Given the description of an element on the screen output the (x, y) to click on. 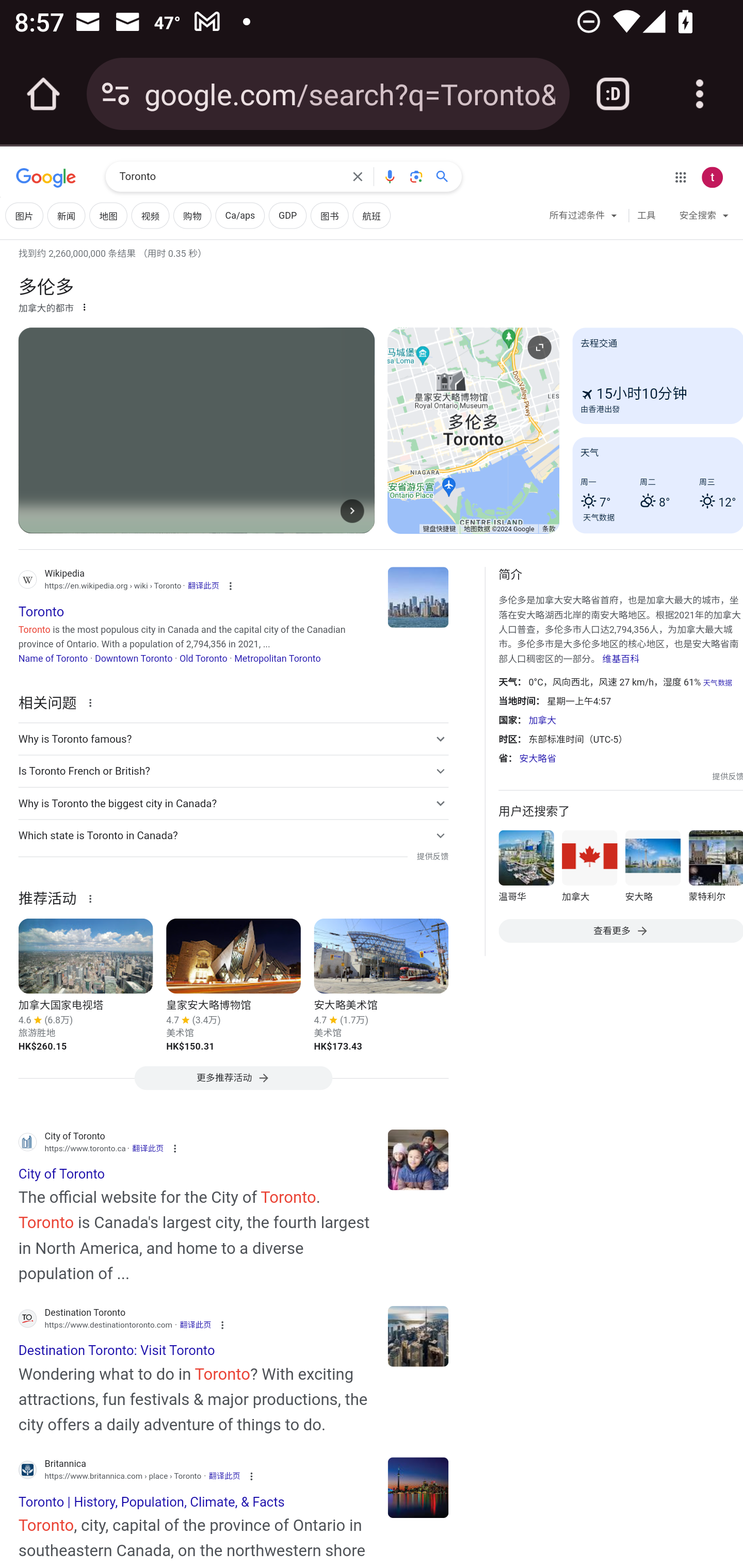
Open the home page (43, 93)
Connection is secure (115, 93)
Switch or close tabs (612, 93)
Customize and control Google Chrome (699, 93)
清除 (357, 176)
按语音搜索 (389, 176)
按图搜索 (415, 176)
搜索 (446, 176)
Google 应用 (680, 176)
Google 账号： test appium (testappium002@gmail.com) (712, 176)
Google (45, 178)
Toronto (229, 177)
图片 (24, 215)
新闻 (65, 215)
地图 (107, 215)
视频 (149, 215)
购物 (191, 215)
添加“Ca/aps” Ca/aps (239, 215)
添加“GDP” GDP (287, 215)
图书 (328, 215)
航班 (371, 215)
所有过滤条件 (583, 217)
工具 (646, 215)
安全搜索 (703, 217)
更多选项 (84, 306)
去程交通 15小时10分钟 乘坐飞机 由香港出發 (657, 375)
展开地图 (539, 346)
天气 周一 高温 7 度 周二 高温 8 度 周三 高温 12 度 (657, 484)
下一张图片 (352, 510)
天气数据 (599, 516)
Toronto (417, 597)
翻译此页 (203, 585)
Name of Toronto (52, 658)
Downtown Toronto (132, 658)
Old Toronto (203, 658)
Metropolitan Toronto (277, 658)
维基百科 (620, 658)
天气数据 (717, 682)
关于这条结果的详细信息 (93, 701)
加拿大 (541, 720)
Why is Toronto famous? (232, 738)
安大略省 (537, 758)
Is Toronto French or British? (232, 770)
提供反馈 (727, 775)
Why is Toronto the biggest city in Canada? (232, 803)
Which state is Toronto in Canada? (232, 835)
温哥华 (526, 869)
加拿大 (588, 869)
安大略 (652, 869)
蒙特利尔 (715, 869)
提供反馈 (432, 856)
关于这条结果的详细信息 (93, 897)
查看更多 查看更多 查看更多 (620, 930)
更多推荐活动 (232, 1082)
www.toronto (417, 1159)
翻译此页 (147, 1148)
www.destinationtoronto (417, 1336)
翻译此页 (195, 1324)
Toronto (417, 1486)
翻译此页 (224, 1476)
